Given the description of an element on the screen output the (x, y) to click on. 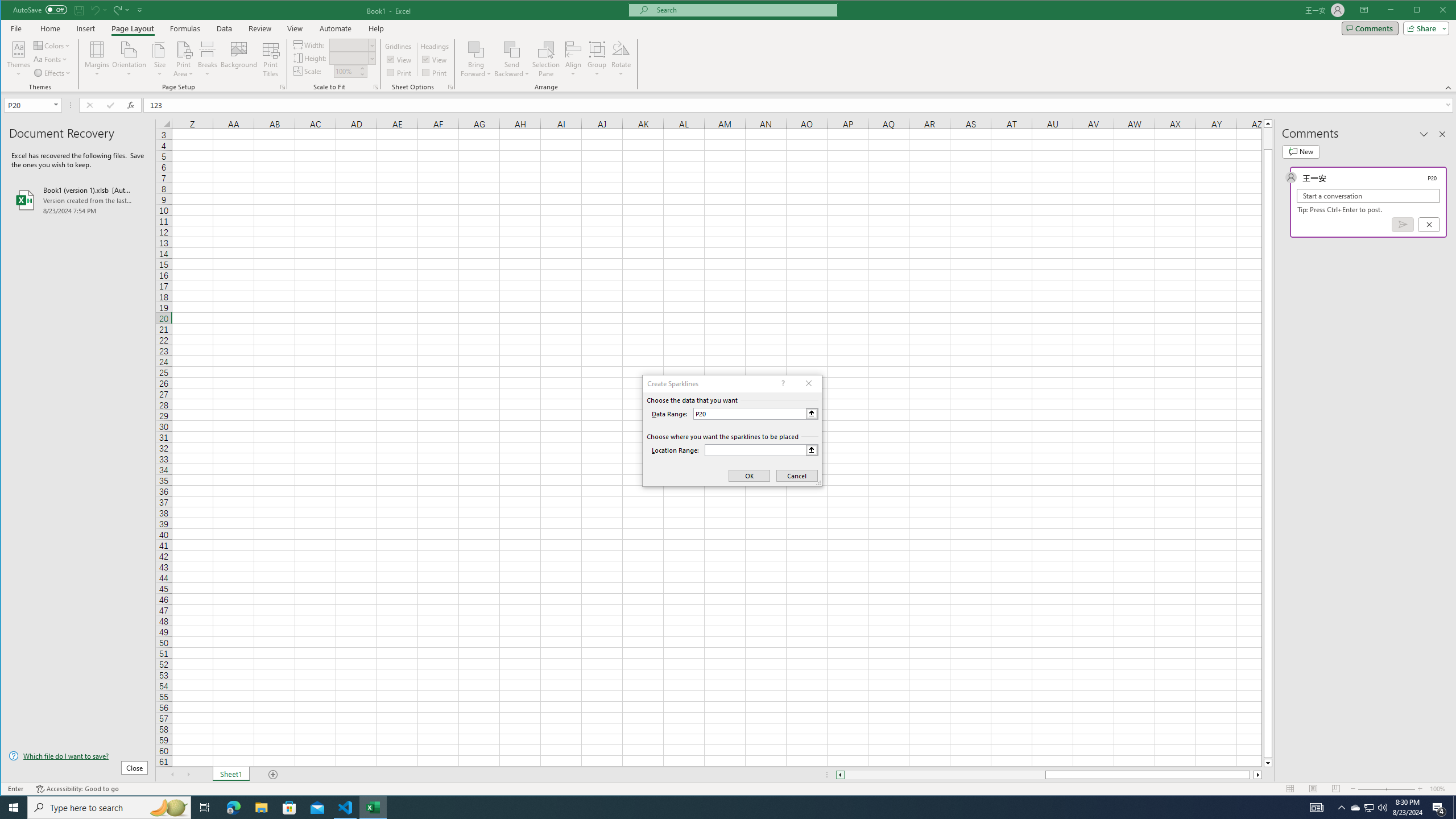
Page right (1251, 774)
More Options (512, 69)
Collapse the Ribbon (1448, 87)
Zoom (1386, 788)
Page Layout (1312, 788)
Orientation (129, 59)
Quick Access Toolbar (79, 9)
Cancel (1428, 224)
Close pane (1441, 133)
Add Sheet (272, 774)
Data (224, 28)
Page left (944, 774)
Ribbon Display Options (1364, 9)
Insert (85, 28)
Page Setup (375, 86)
